Given the description of an element on the screen output the (x, y) to click on. 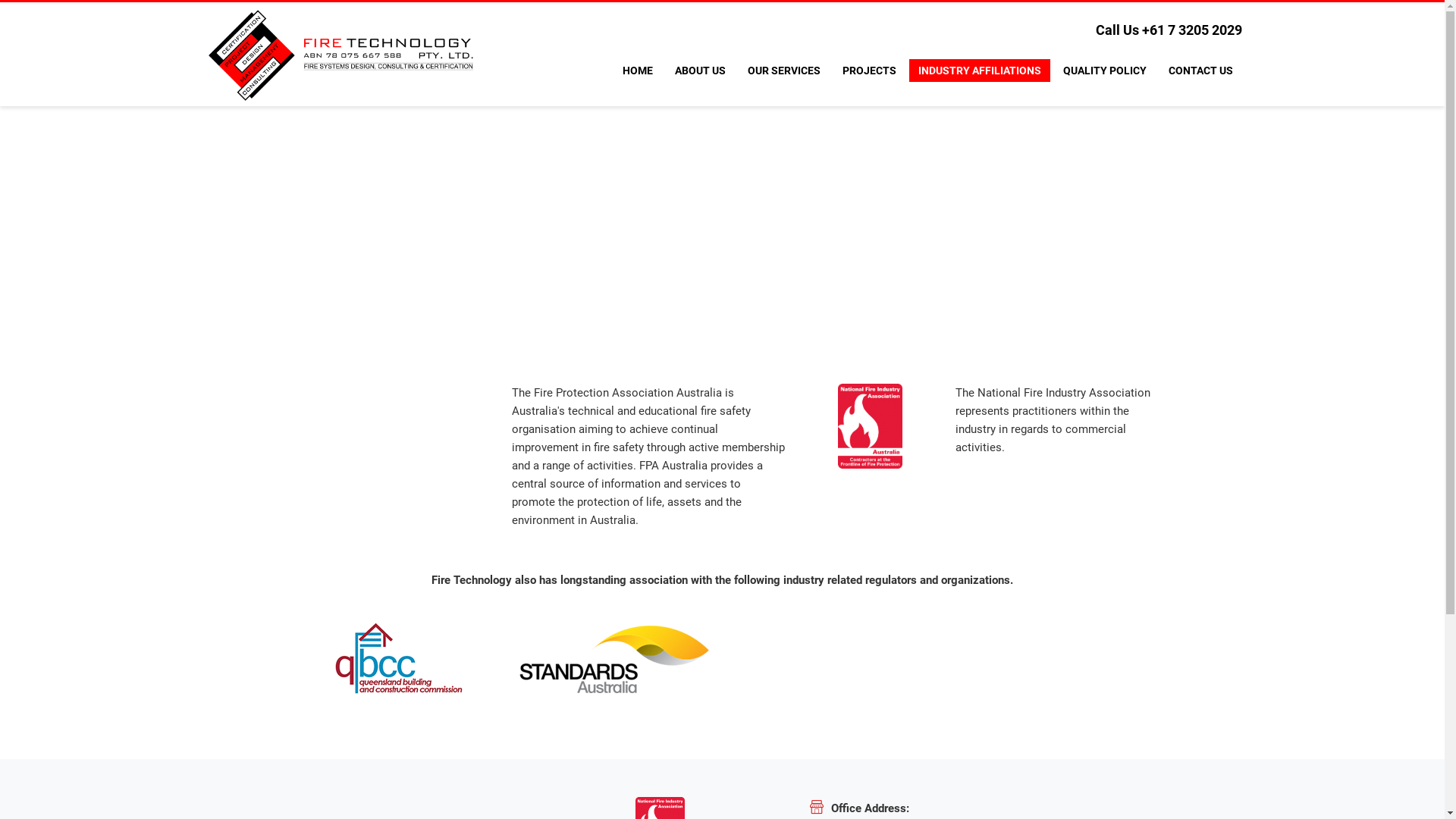
PROJECTS Element type: text (869, 70)
OUR SERVICES Element type: text (783, 70)
INDUSTRY AFFILIATIONS Element type: text (979, 70)
HOME Element type: text (637, 70)
ABOUT US Element type: text (699, 70)
QUALITY POLICY Element type: text (1104, 70)
CONTACT US Element type: text (1200, 70)
+61 7 3205 2029 Element type: text (1192, 29)
Fixed Fire Systems Design & Consulting Element type: hover (340, 55)
